Given the description of an element on the screen output the (x, y) to click on. 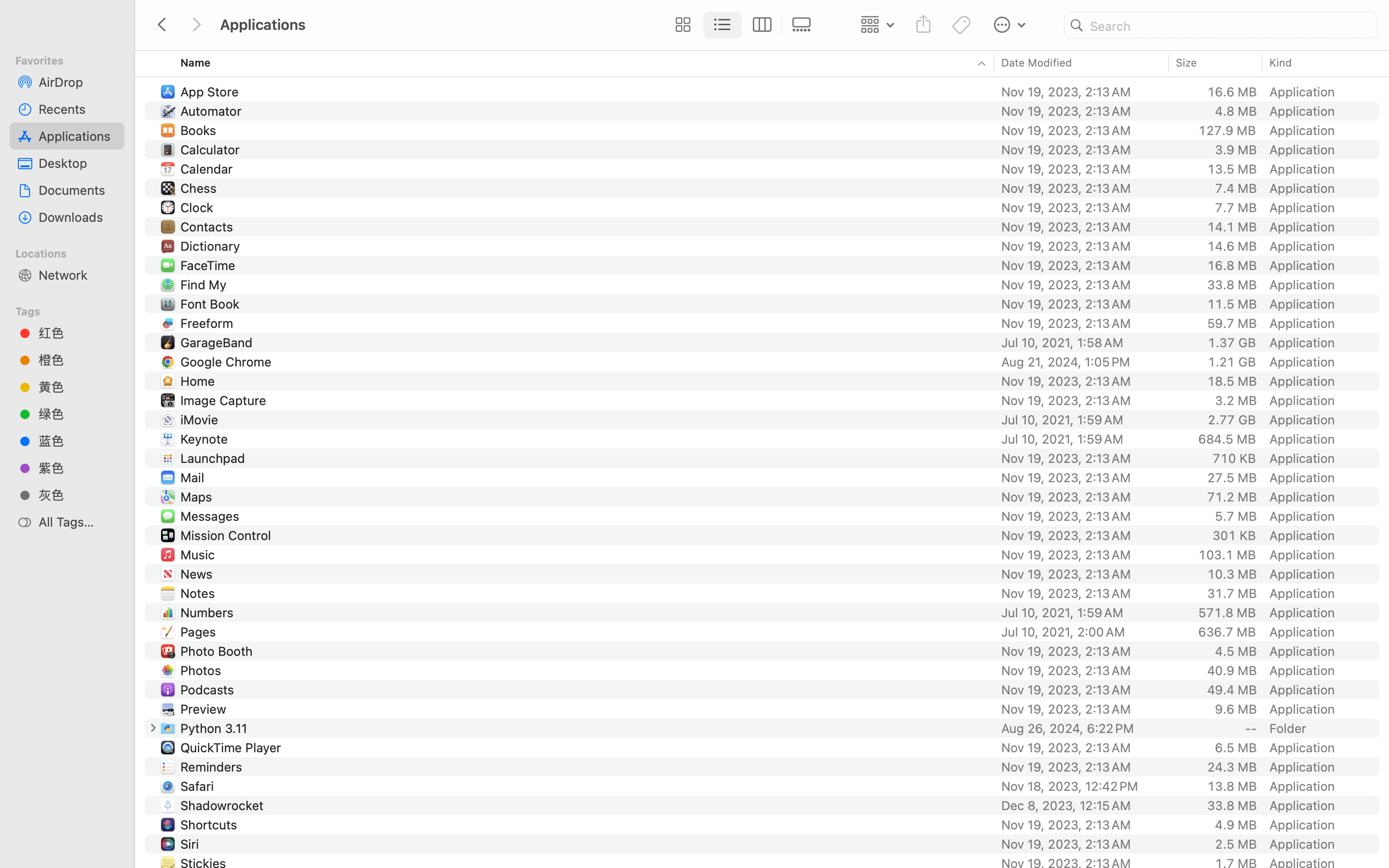
黄色 Element type: AXStaticText (77, 386)
Pages Element type: AXTextField (199, 631)
Downloads Element type: AXStaticText (77, 216)
10.3 MB Element type: AXStaticText (1231, 573)
1.21 GB Element type: AXStaticText (1231, 361)
